Given the description of an element on the screen output the (x, y) to click on. 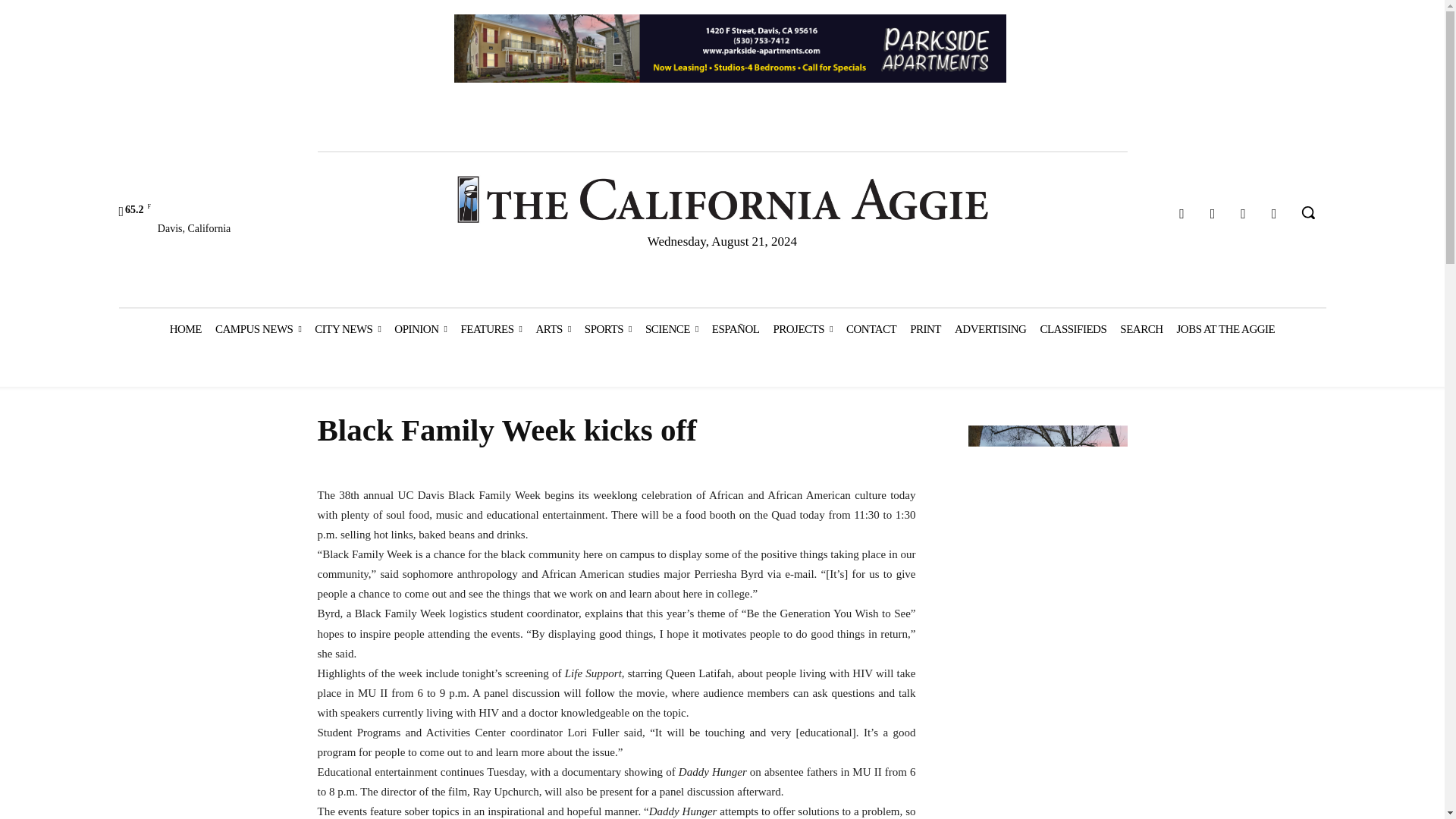
Twitter (1243, 214)
HOME (185, 329)
Facebook (1181, 214)
Youtube (1273, 214)
CAMPUS NEWS (257, 329)
Instagram (1212, 214)
